Given the description of an element on the screen output the (x, y) to click on. 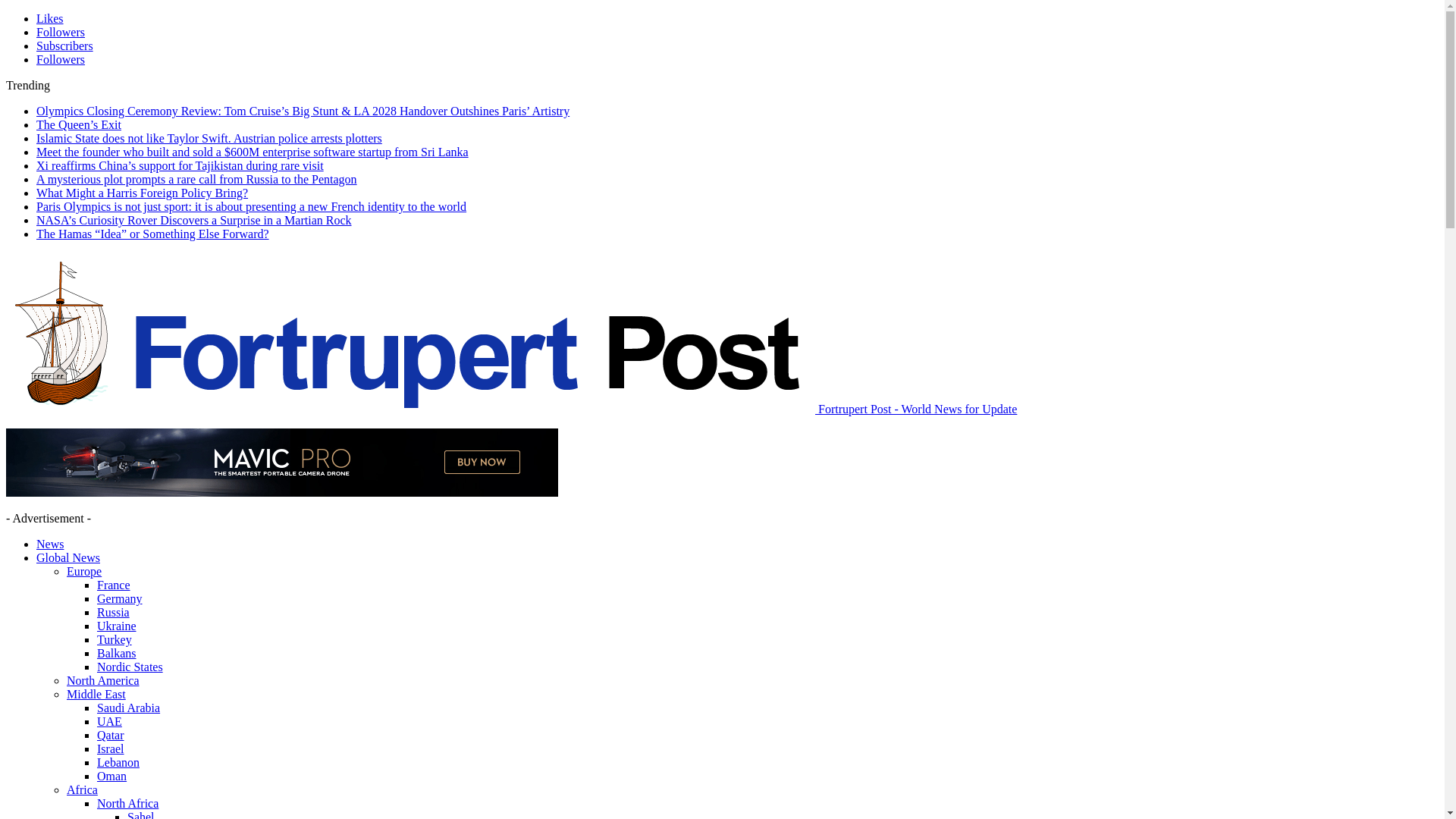
Africa (81, 789)
France (114, 584)
Ukraine (116, 625)
North Africa (127, 802)
Germany (119, 598)
Nordic States (130, 666)
UAE (109, 721)
Balkans (116, 653)
Saudi Arabia (128, 707)
What Might a Harris Foreign Policy Bring? (141, 192)
